Given the description of an element on the screen output the (x, y) to click on. 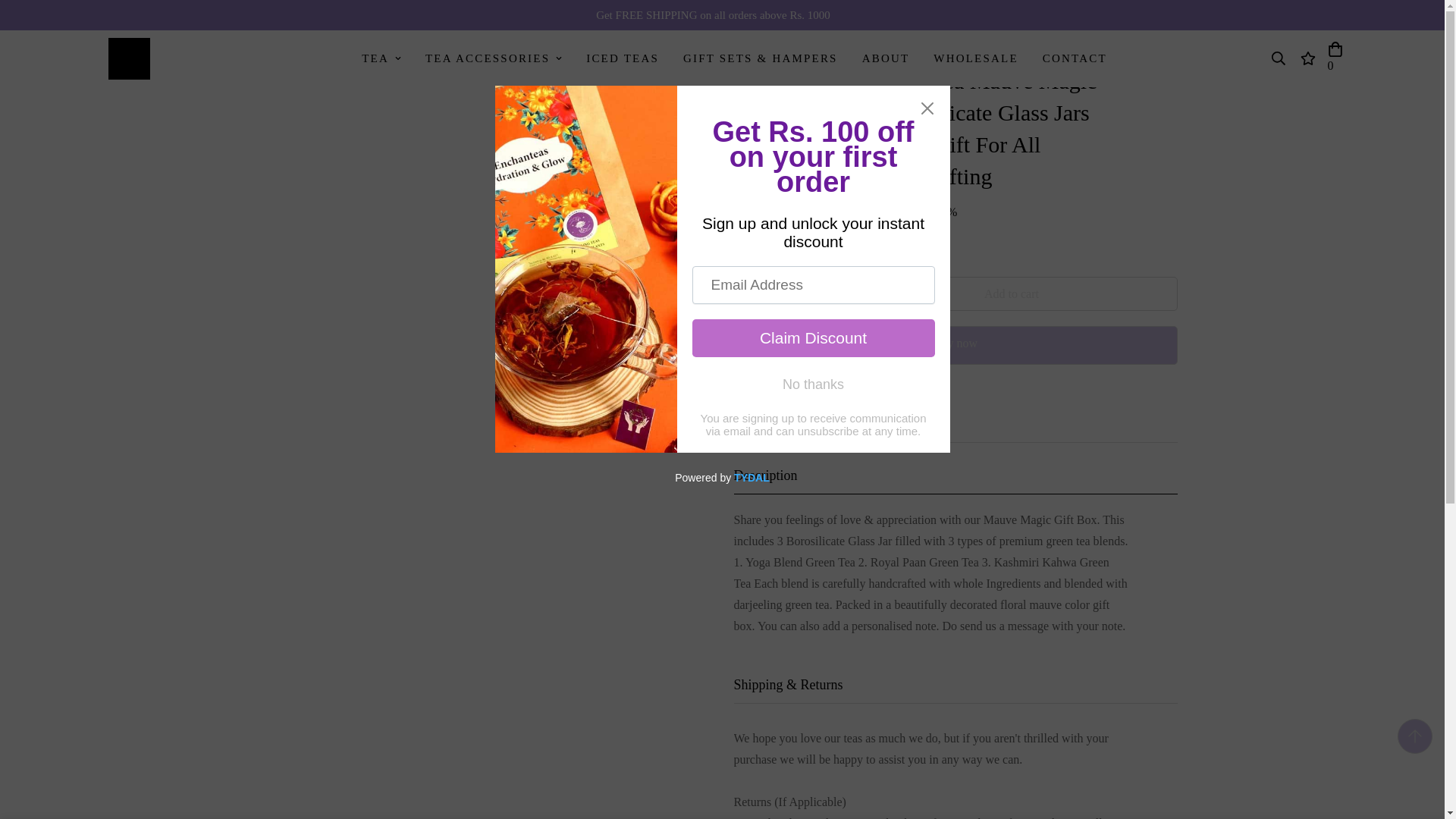
Back to the home page (268, 40)
1 (782, 293)
TEA (381, 58)
